Given the description of an element on the screen output the (x, y) to click on. 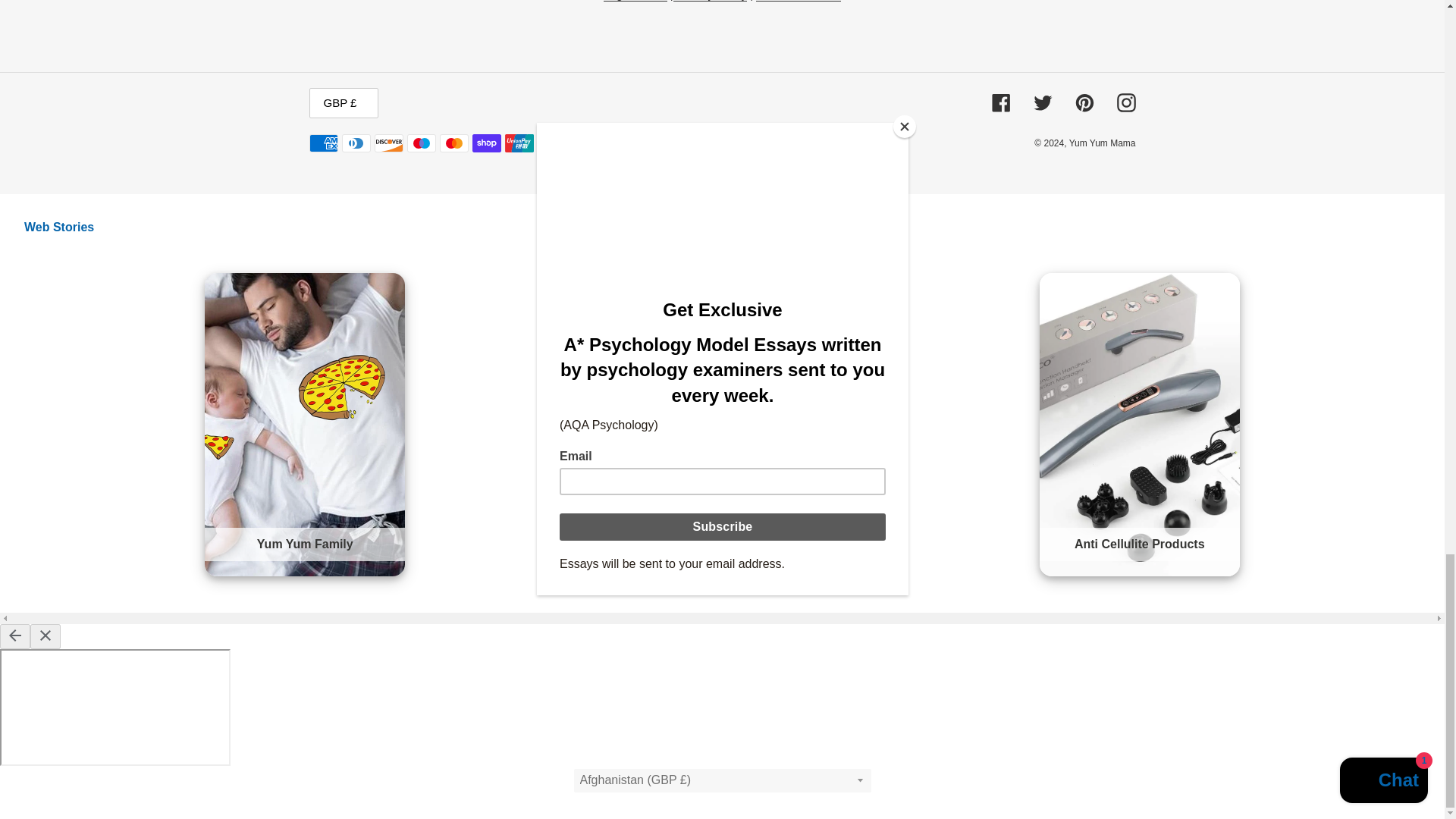
Terms of Service (798, 0)
Legal Notice (635, 0)
Privacy Policy (710, 0)
